Given the description of an element on the screen output the (x, y) to click on. 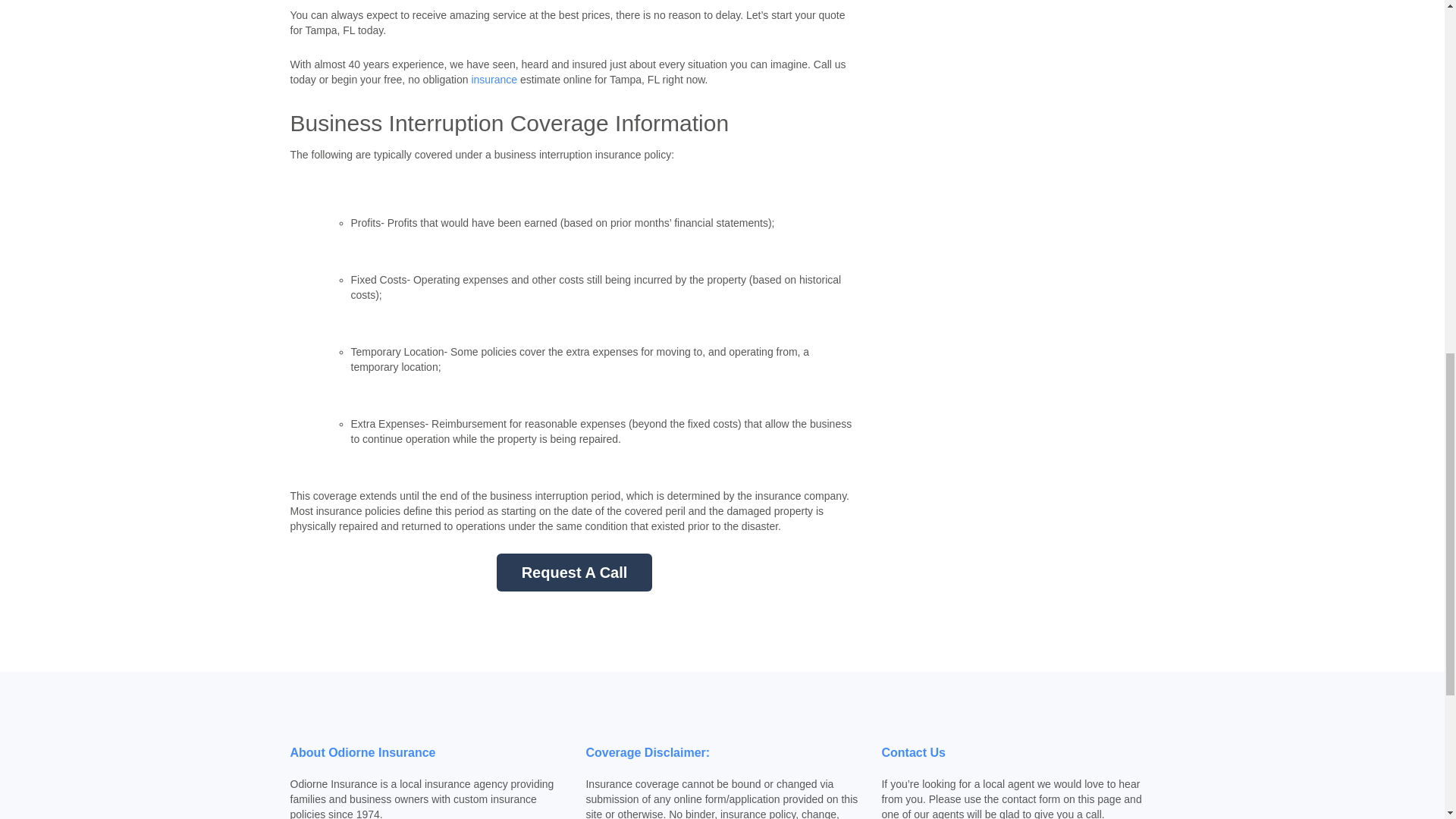
insurance  (494, 79)
